Given the description of an element on the screen output the (x, y) to click on. 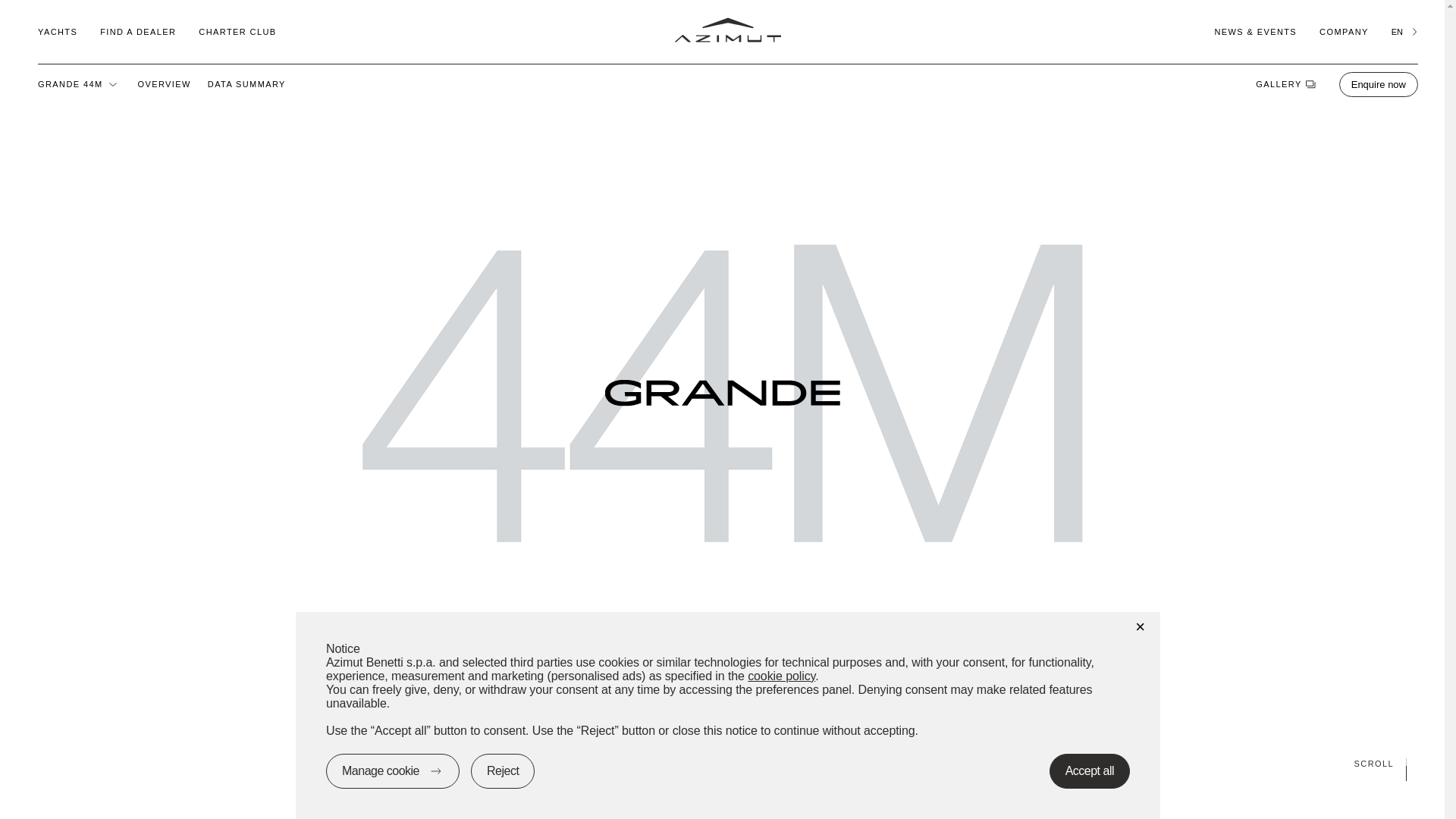
FIND A DEALER (138, 31)
CHARTER CLUB (237, 31)
Enquire now (1378, 83)
SCROLL (722, 763)
YACHTS (57, 31)
EN (1404, 31)
OVERVIEW (164, 83)
DATA SUMMARY (246, 83)
COMPANY (1343, 31)
